Given the description of an element on the screen output the (x, y) to click on. 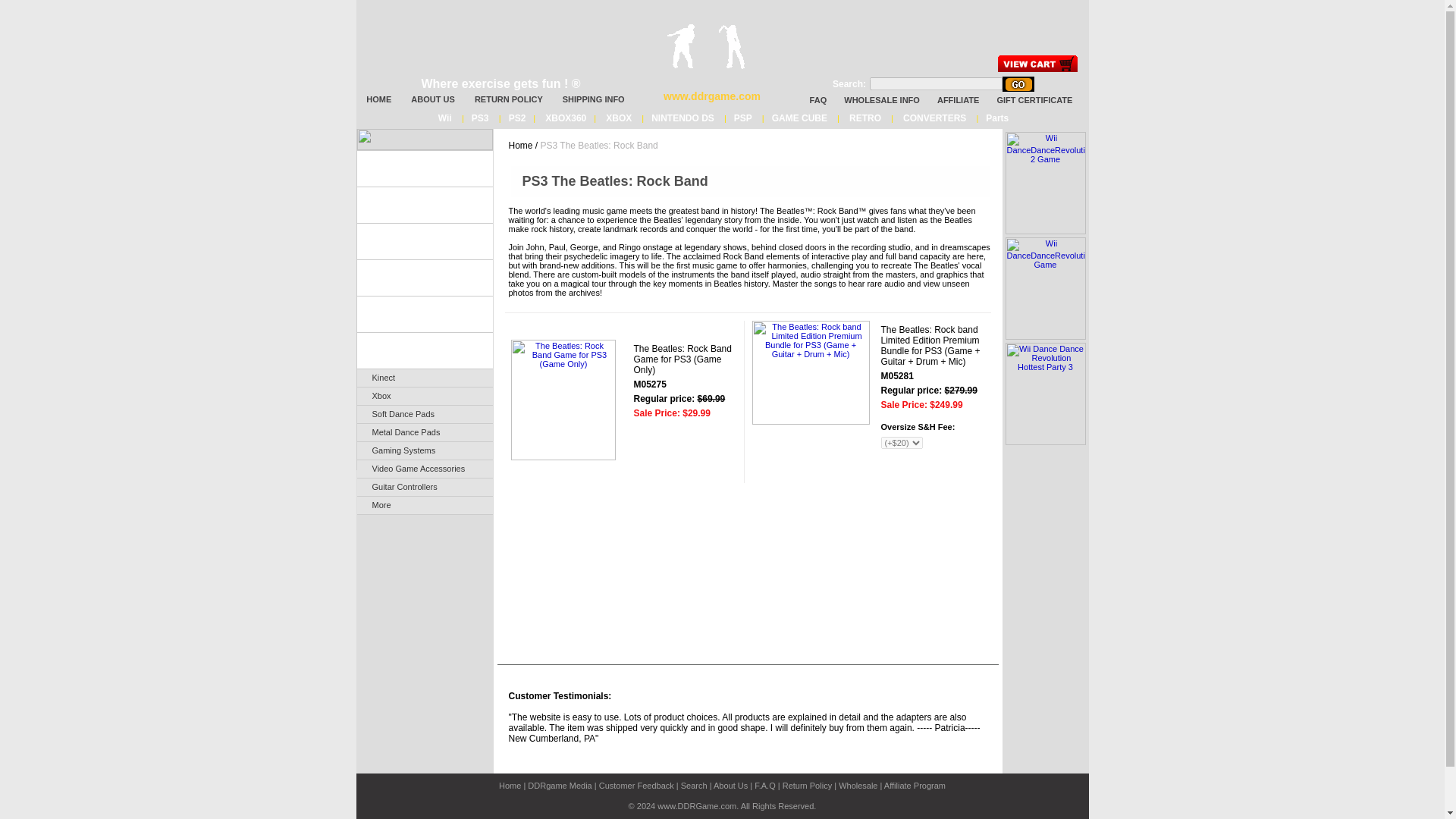
XBOX (618, 118)
GAME CUBE (799, 118)
FAQ (810, 99)
RETRO (864, 118)
PS3 (481, 118)
Video Game Accessories (424, 469)
More (424, 505)
Parts (997, 118)
Kinect (424, 377)
